Given the description of an element on the screen output the (x, y) to click on. 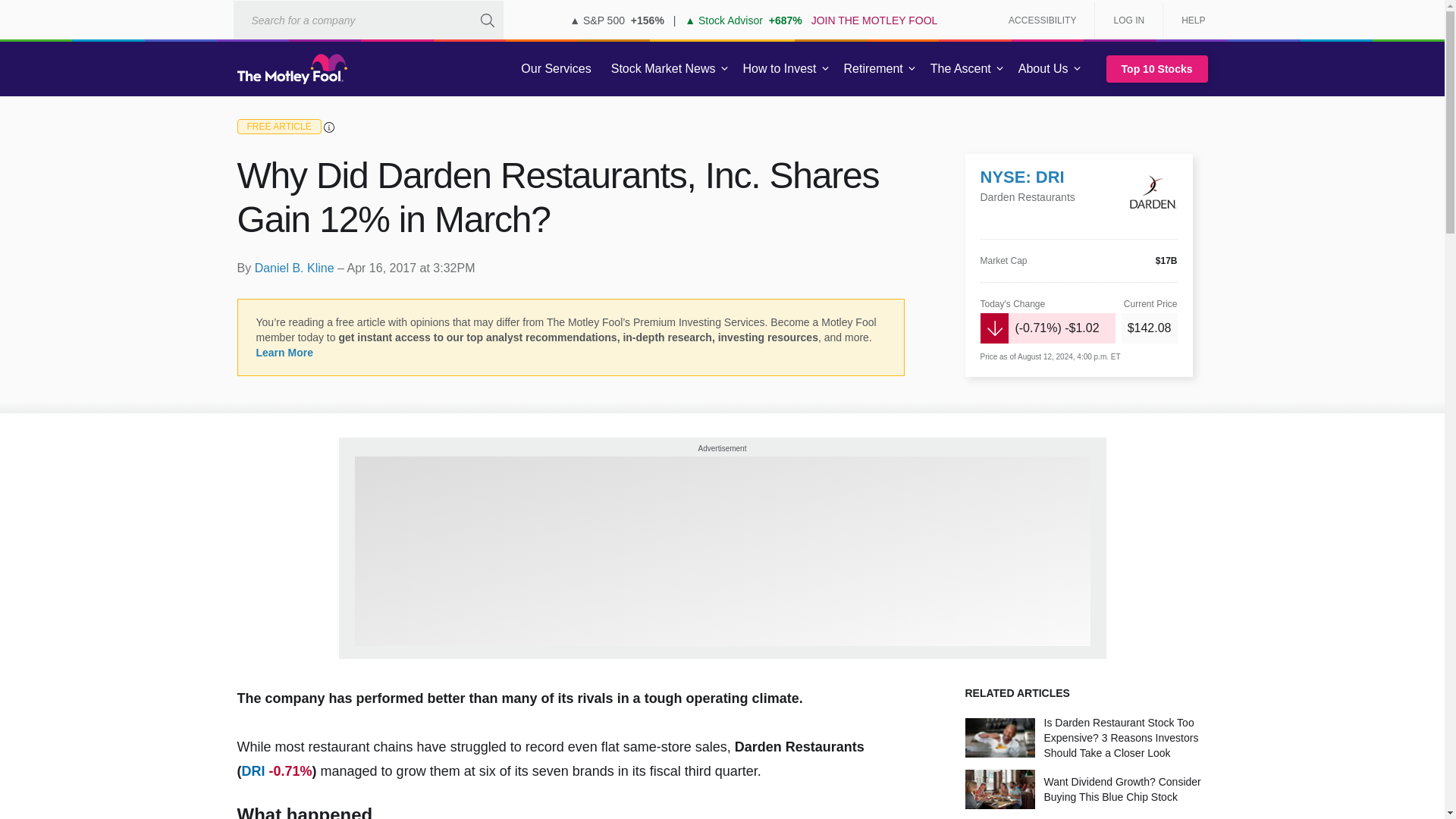
Stock Market News (662, 68)
LOG IN (1128, 19)
ACCESSIBILITY (1042, 19)
How to Invest (779, 68)
Our Services (555, 68)
HELP (1187, 19)
